Given the description of an element on the screen output the (x, y) to click on. 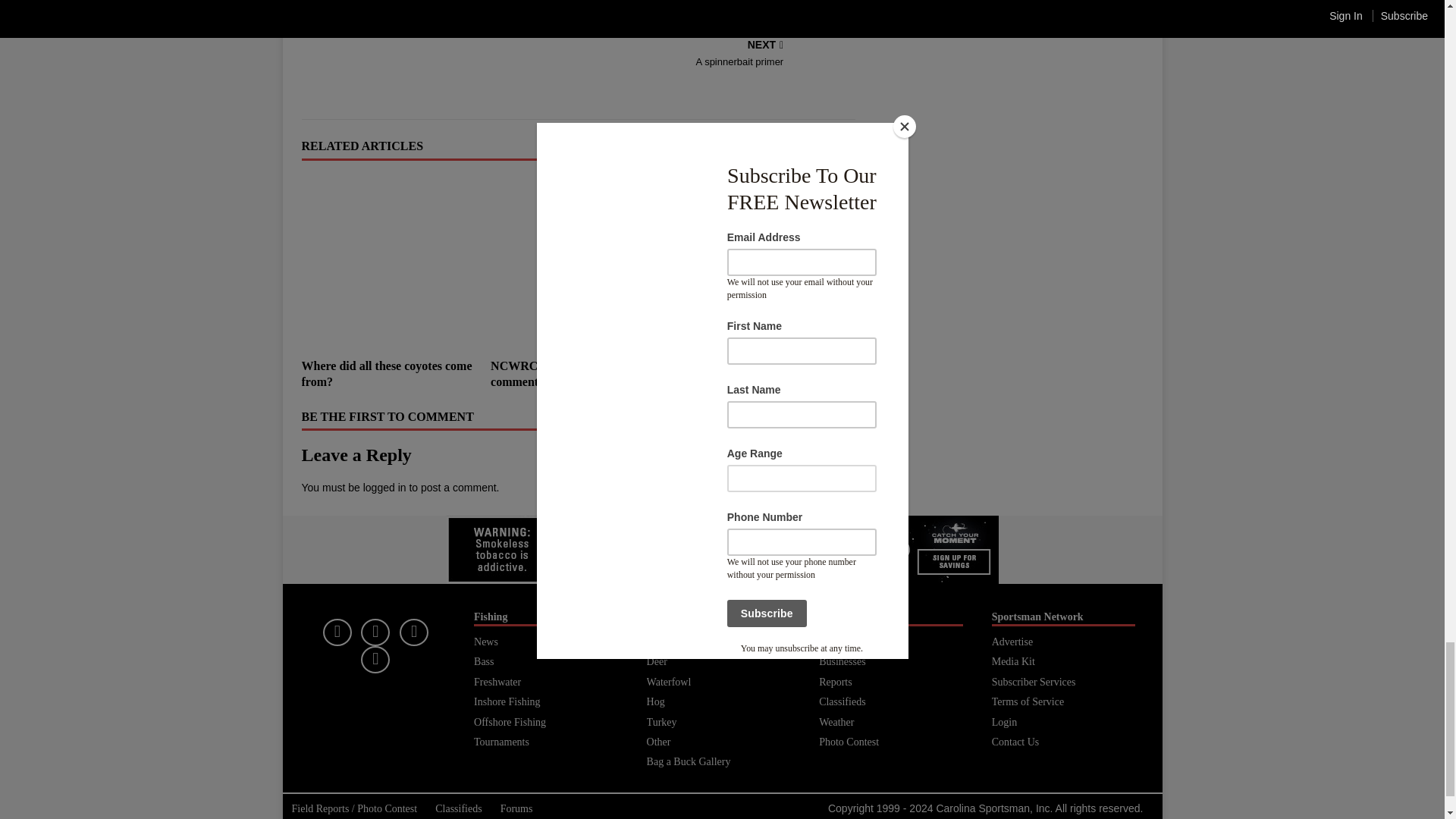
Where did all these coyotes come from? (386, 373)
NCWRC seeking public comments on flounder closure (577, 263)
NCWRC seeking public comments on flounder closure (568, 373)
Wrangling for white perch (767, 263)
Where did all these coyotes come from? (389, 263)
Wrangling for white perch (748, 365)
